Given the description of an element on the screen output the (x, y) to click on. 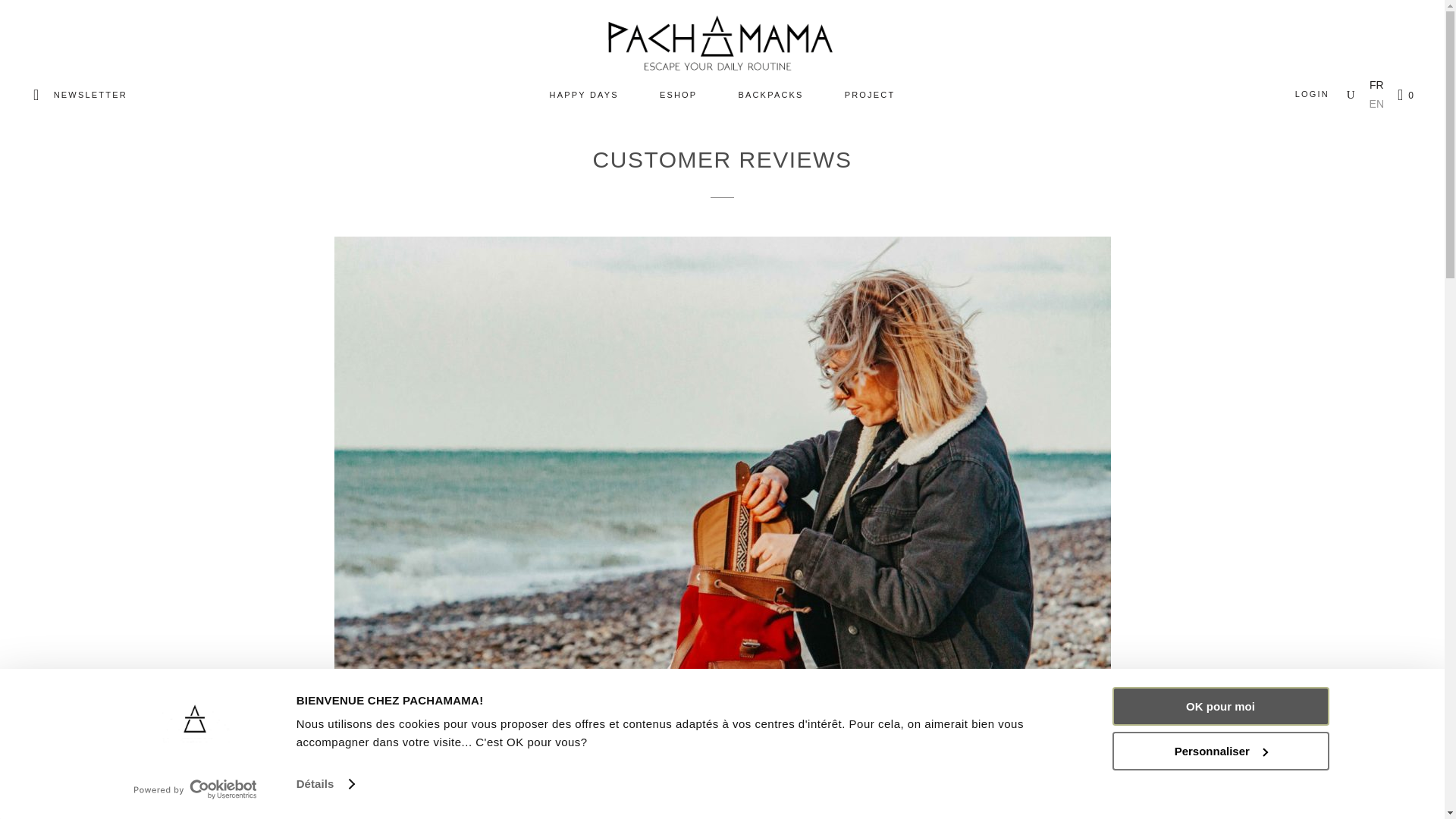
SEND (1151, 639)
